Given the description of an element on the screen output the (x, y) to click on. 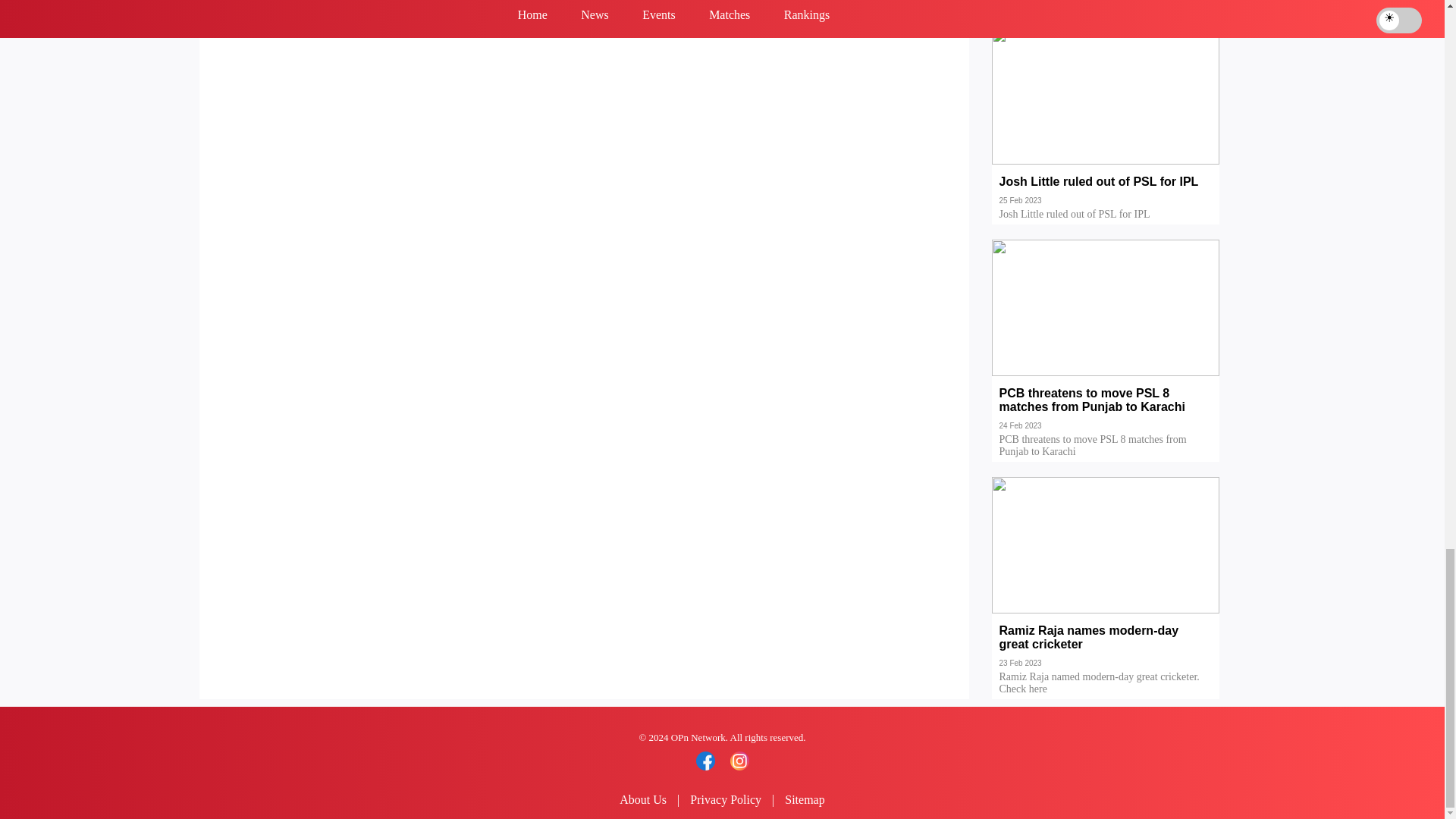
About Us (643, 799)
Privacy Policy (725, 799)
PCB threatens to move PSL 8 matches from Punjab to Karachi (1105, 410)
Josh Little ruled out of PSL for IPL (1105, 192)
Ramiz Raja names modern-day great cricketer (1105, 648)
Sitemap (804, 799)
